Given the description of an element on the screen output the (x, y) to click on. 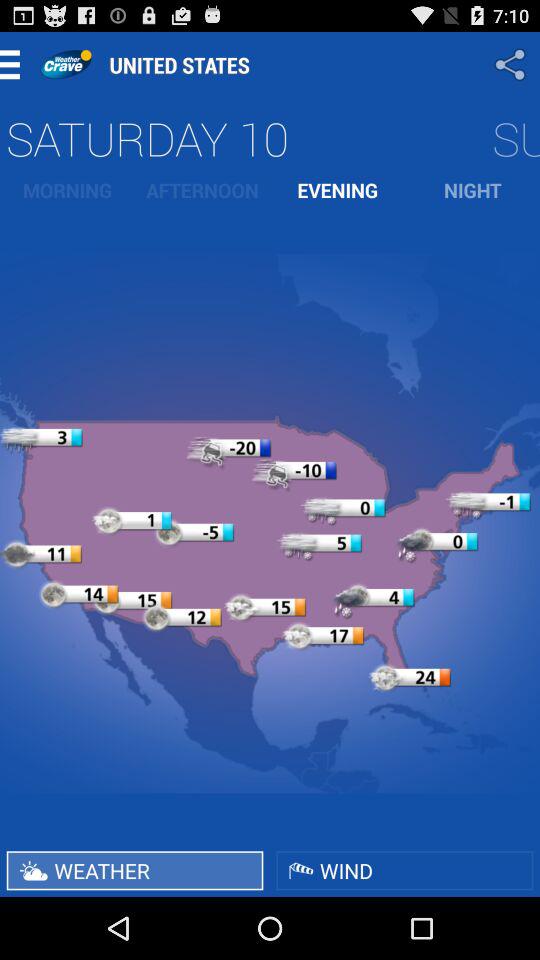
open the evening (337, 190)
